Given the description of an element on the screen output the (x, y) to click on. 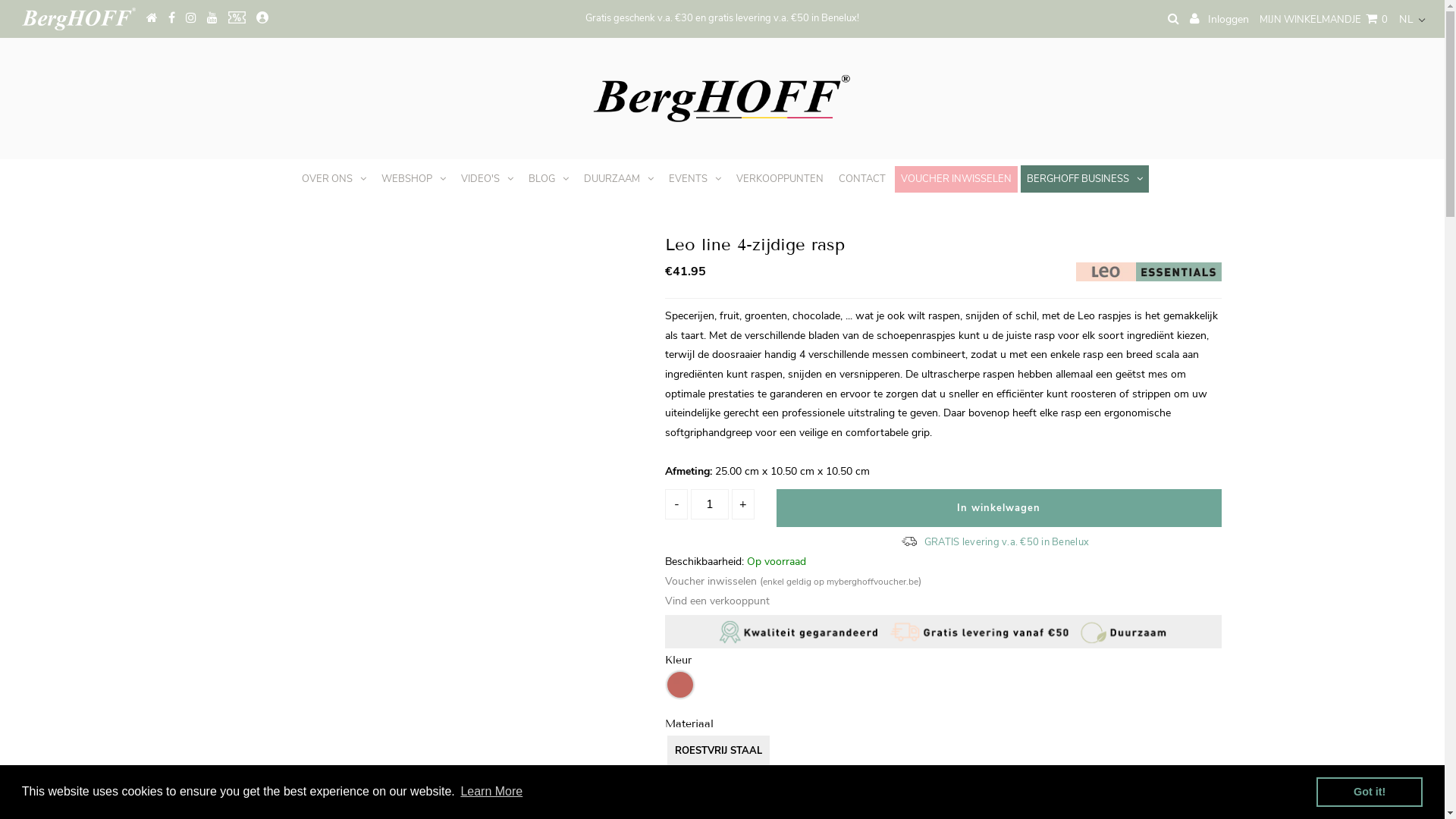
EVENTS Element type: text (694, 178)
OVER ONS Element type: text (333, 178)
CONTACT Element type: text (861, 178)
BLOG Element type: text (548, 178)
+ Element type: text (742, 504)
Got it! Element type: text (1369, 791)
DUURZAAM Element type: text (618, 178)
WEBSHOP Element type: text (413, 178)
Learn More Element type: text (491, 791)
- Element type: text (676, 504)
In winkelwagen Element type: text (998, 508)
MIJN WINKELMANDJE    0 Element type: text (1323, 19)
BERGHOFF BUSINESS Element type: text (1084, 178)
VIDEO'S Element type: text (487, 178)
VERKOOPPUNTEN Element type: text (779, 178)
Voucher inwisselen (enkel geldig op myberghoffvoucher.be) Element type: text (793, 581)
Vind een verkooppunt Element type: text (717, 600)
Inloggen Element type: text (1218, 18)
VOUCHER INWISSELEN Element type: text (955, 179)
